Given the description of an element on the screen output the (x, y) to click on. 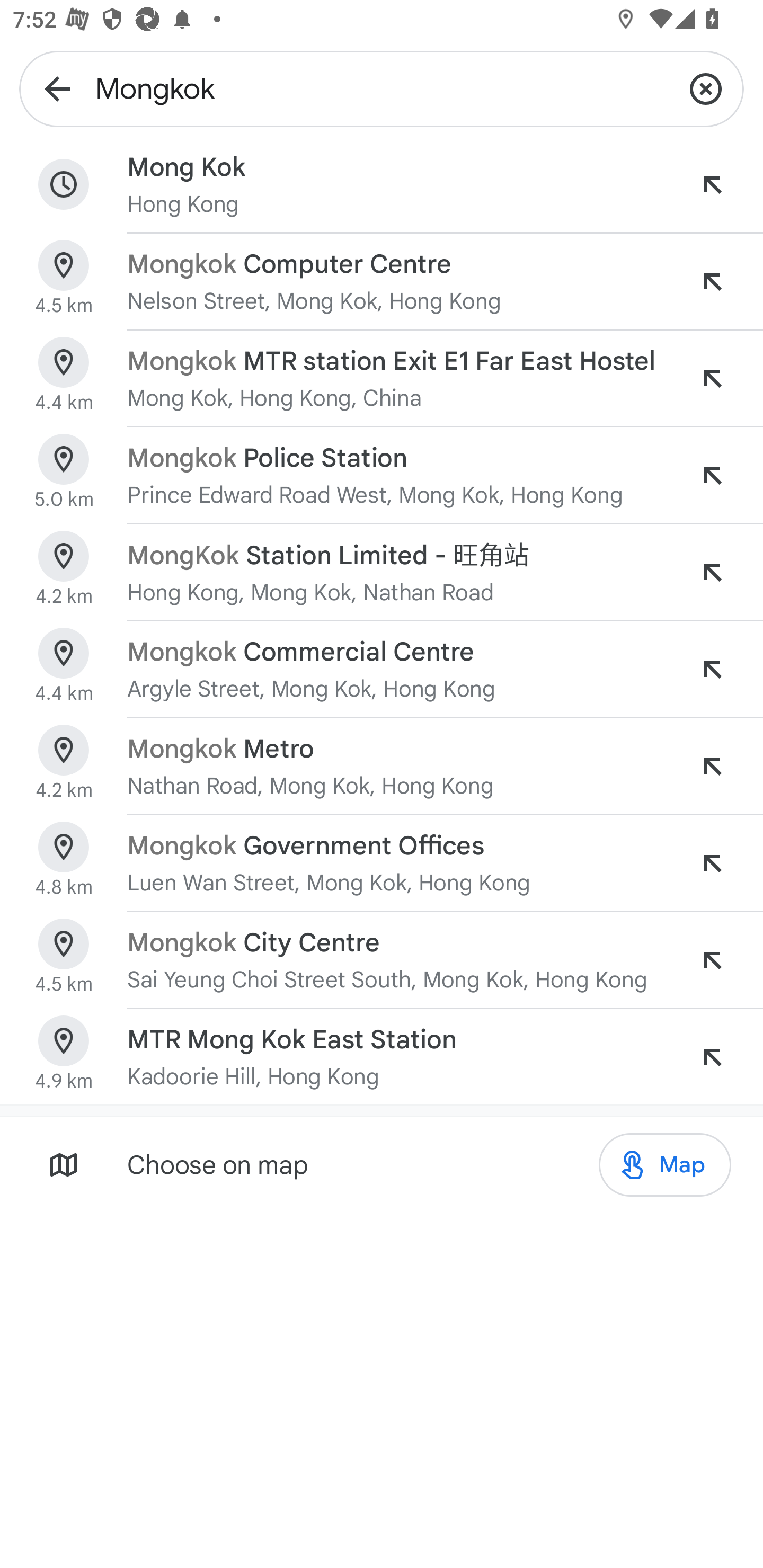
Navigate up (57, 88)
Mongkok (381, 88)
Clear (705, 88)
Choose on map Map Map Map (381, 1164)
Map Map Map (664, 1164)
